Given the description of an element on the screen output the (x, y) to click on. 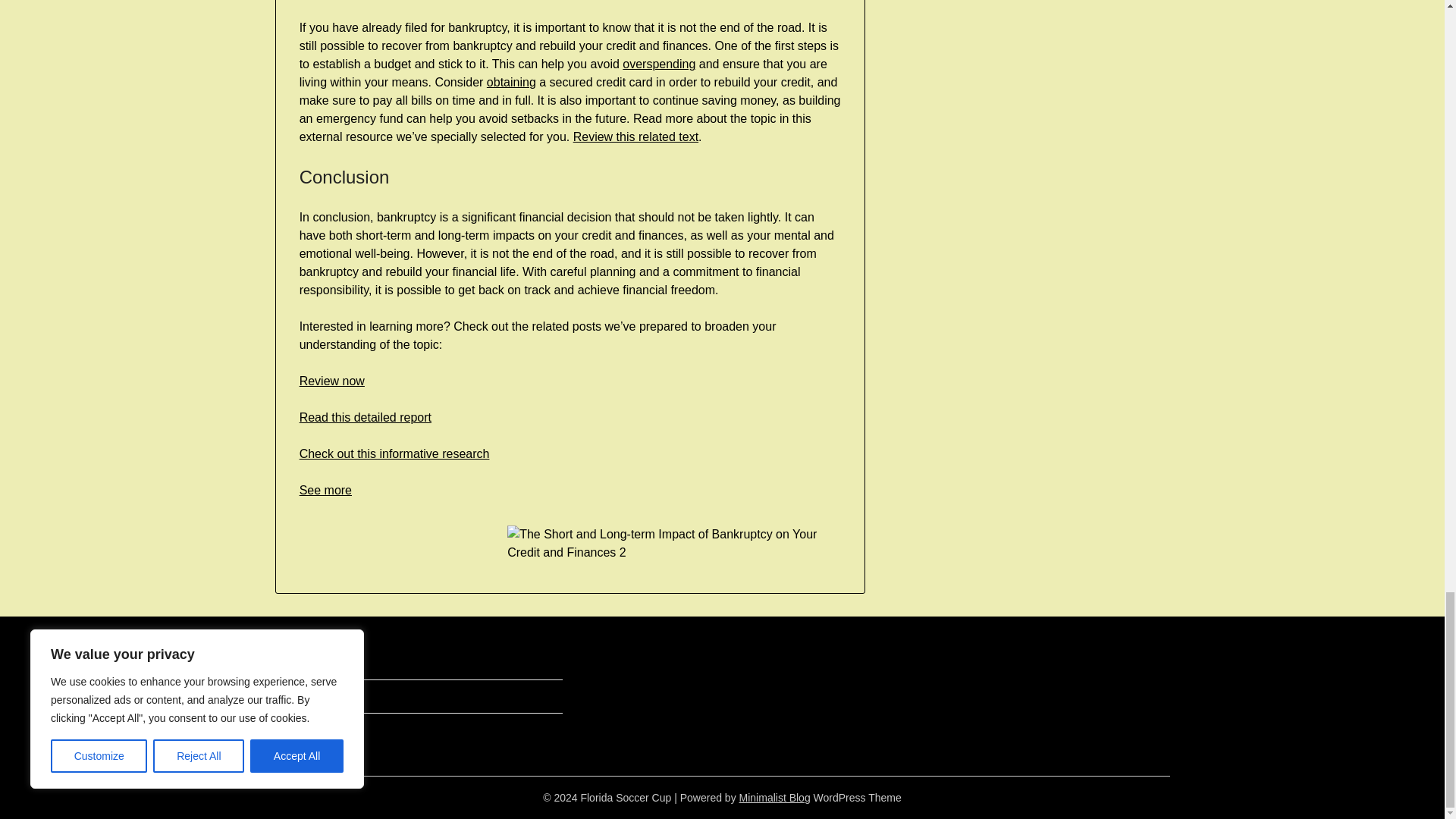
Review now (332, 380)
Read this detailed report (364, 417)
obtaining (510, 82)
overspending (659, 63)
See more (325, 490)
Check out this informative research (394, 453)
Review this related text (635, 136)
